Given the description of an element on the screen output the (x, y) to click on. 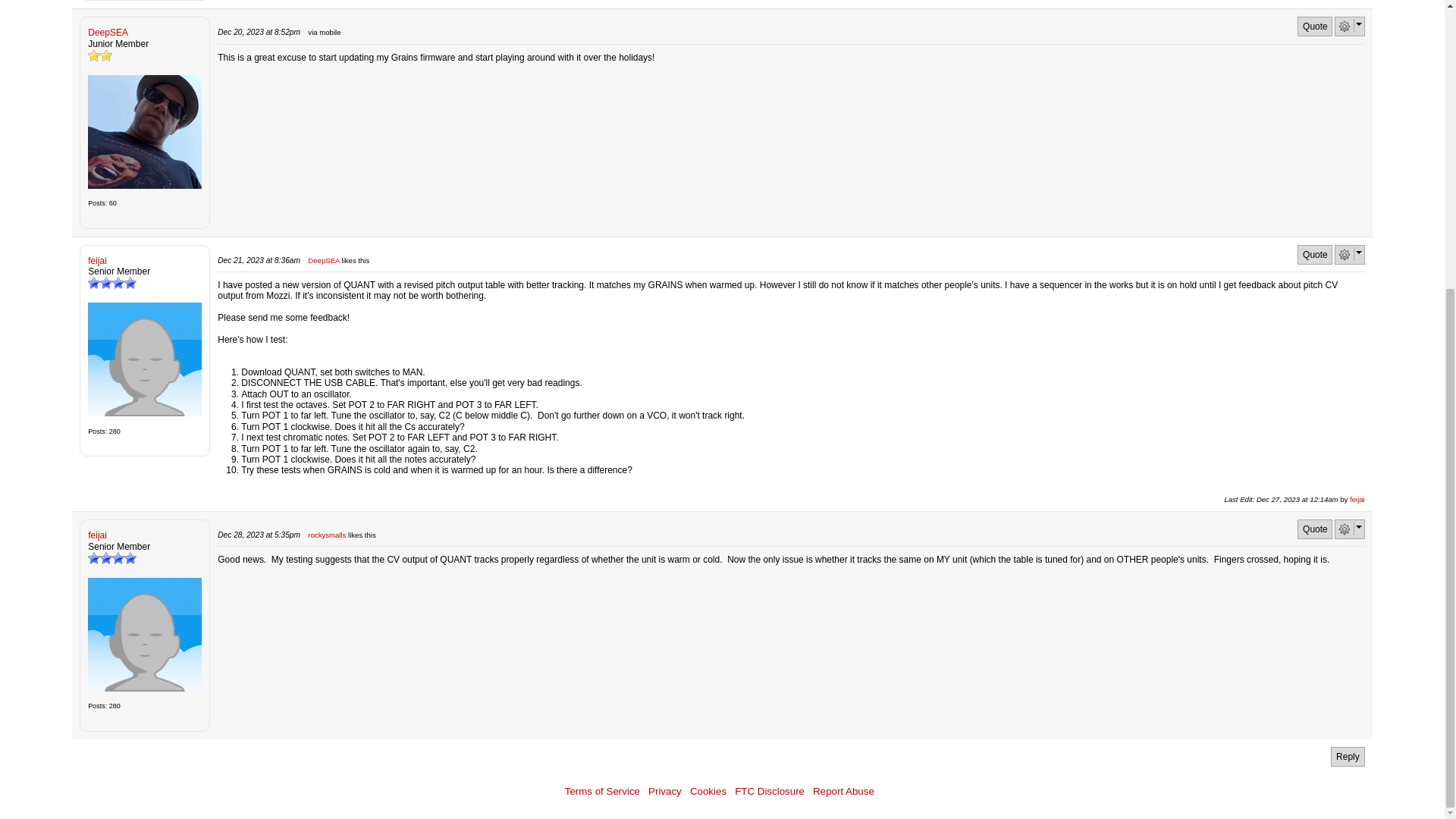
Post Options (1344, 26)
feijai (144, 359)
DeepSEA (144, 132)
